Given the description of an element on the screen output the (x, y) to click on. 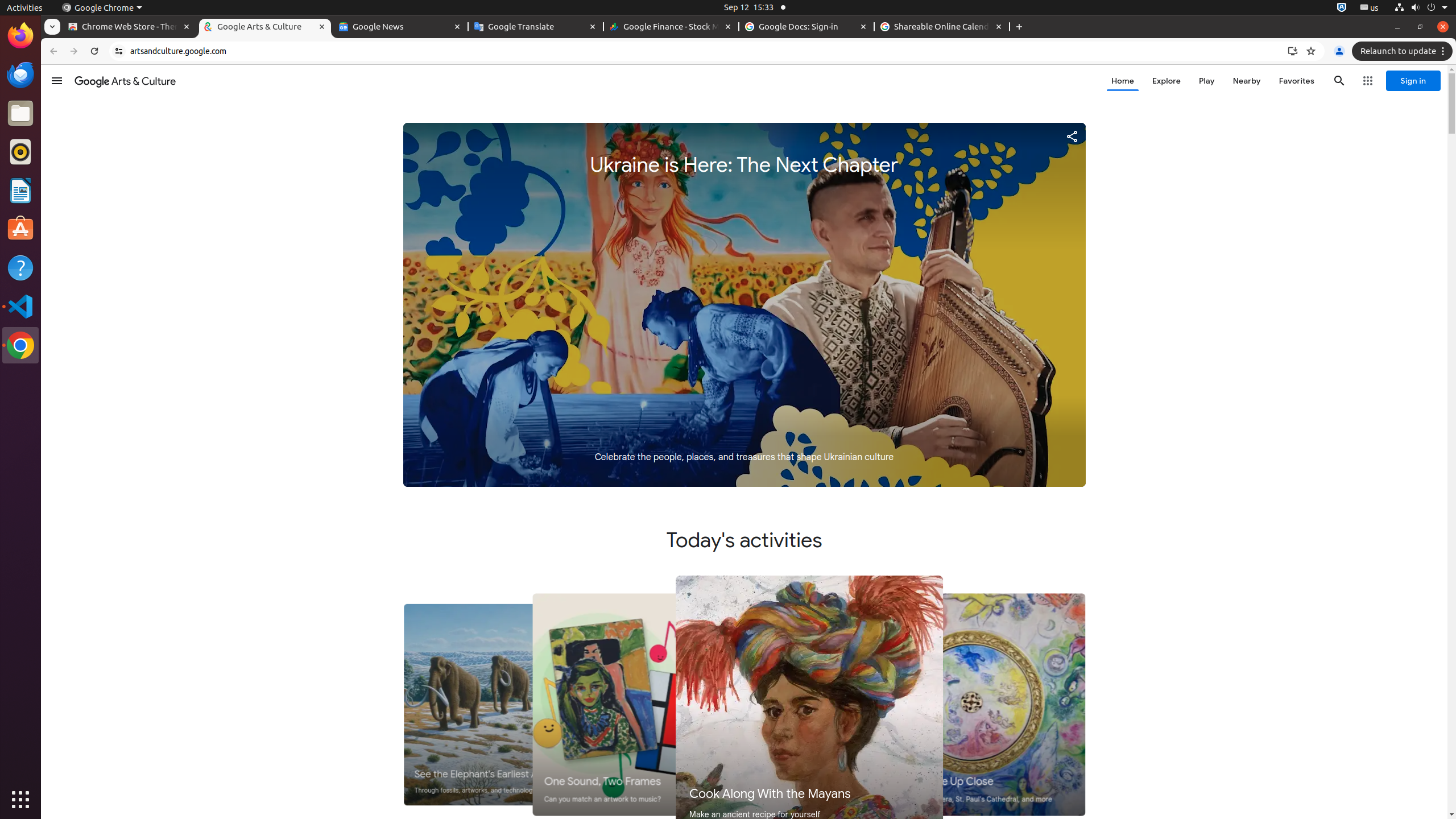
Google Translate - Memory usage - 64.0 MB Element type: page-tab (535, 26)
:1.72/StatusNotifierItem Element type: menu (1341, 7)
Forward Element type: push-button (73, 50)
Google apps Element type: push-button (1367, 80)
Google Arts & Culture Element type: link (124, 80)
